Given the description of an element on the screen output the (x, y) to click on. 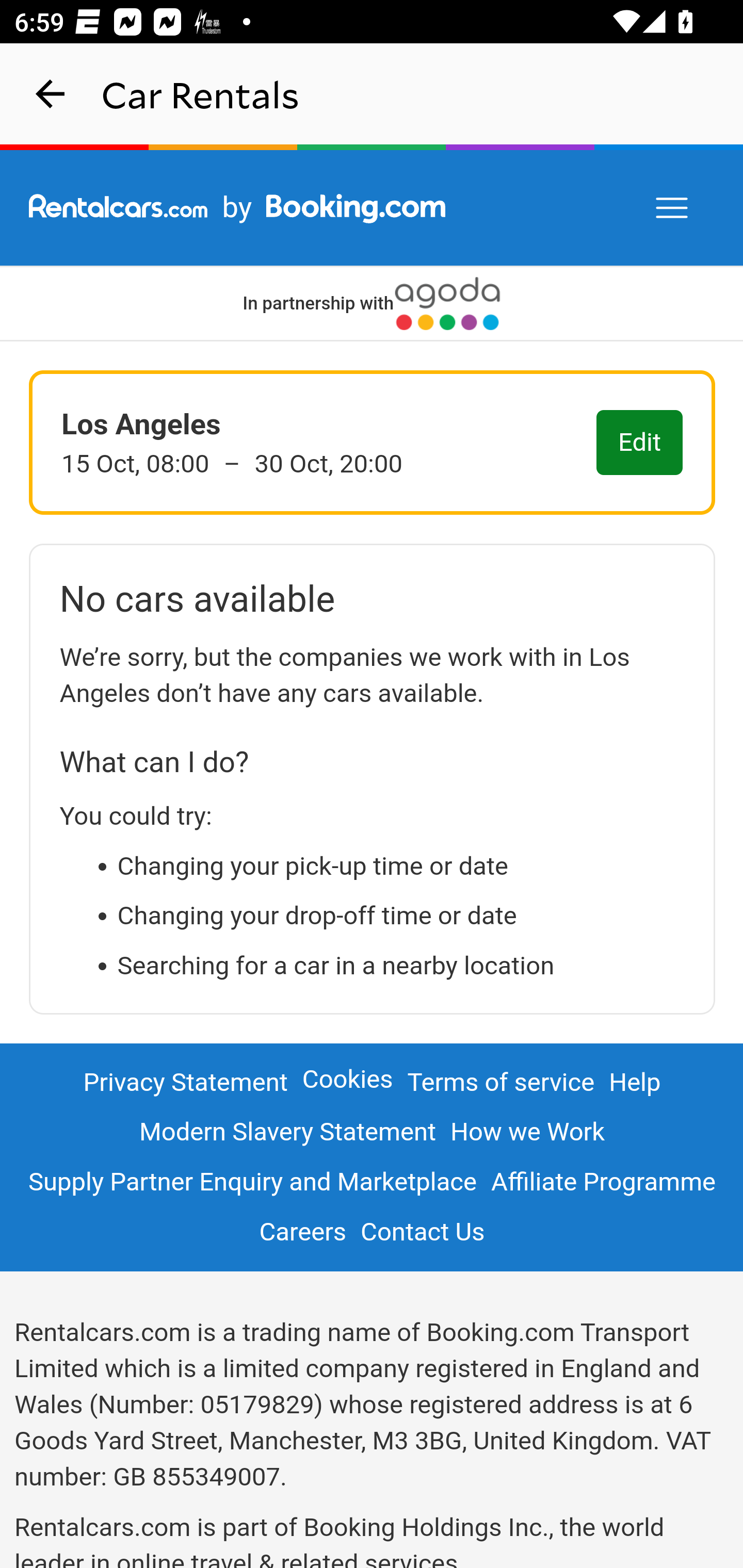
navigation_button (50, 93)
Menu (672, 208)
Edit (639, 443)
Cookies (347, 1079)
Privacy Statement (186, 1082)
Terms of service (500, 1082)
Help (635, 1082)
Modern Slavery Statement (286, 1131)
How we Work (528, 1131)
Supply Partner Enquiry and Marketplace (251, 1181)
Affiliate Programme (602, 1181)
Careers (302, 1231)
Contact Us (421, 1231)
